Given the description of an element on the screen output the (x, y) to click on. 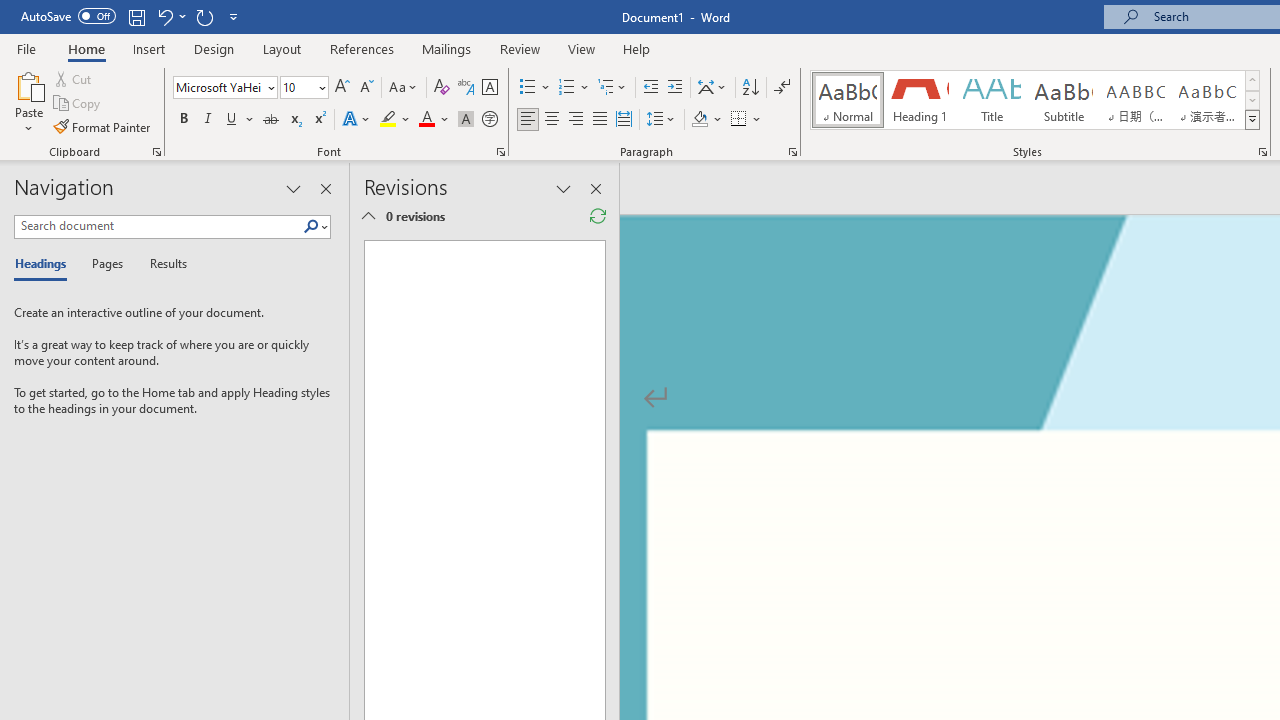
Show Detailed Summary (368, 215)
Undo Paragraph Alignment (170, 15)
